Given the description of an element on the screen output the (x, y) to click on. 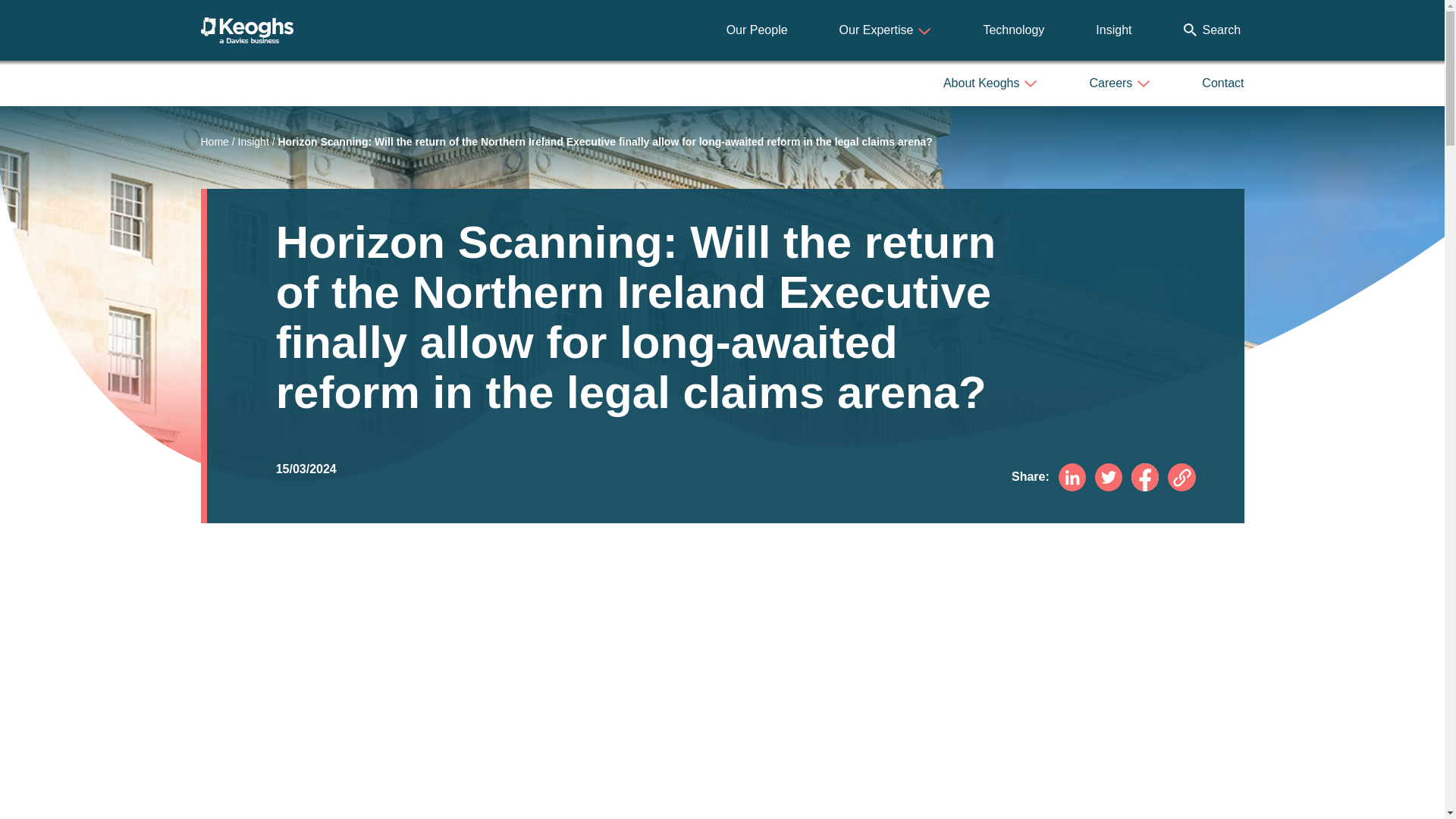
Our Expertise (885, 30)
Technology (1012, 30)
Our People (756, 30)
